Given the description of an element on the screen output the (x, y) to click on. 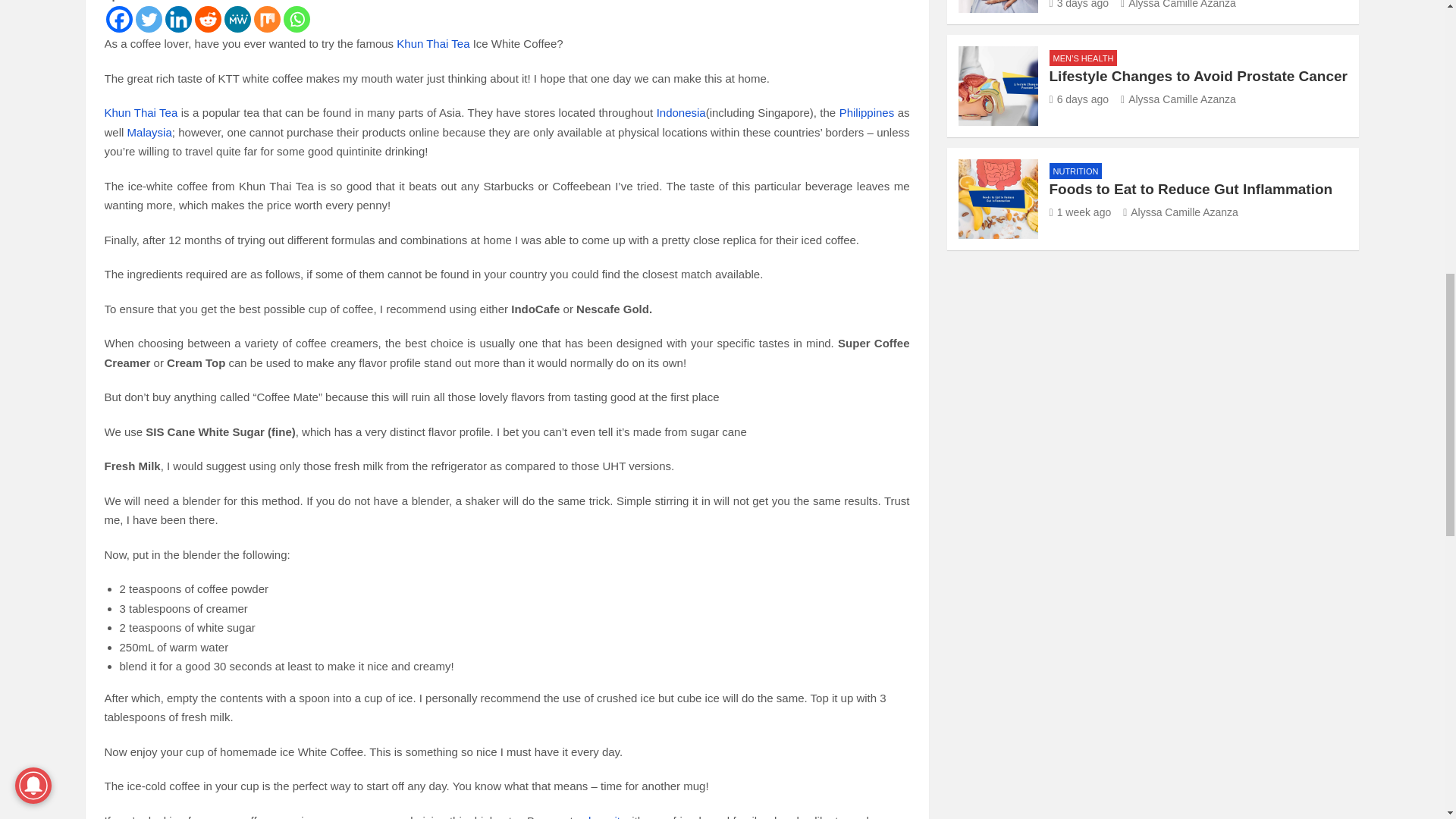
MeWe (237, 18)
Reddit (207, 18)
Linkedin (178, 18)
Foods to Eat to Reduce Gut Inflammation (1080, 212)
Lifestyle Changes to Avoid Prostate Cancer (1079, 99)
Mix (266, 18)
Facebook (119, 18)
Whatsapp (296, 18)
Twitter (148, 18)
